Given the description of an element on the screen output the (x, y) to click on. 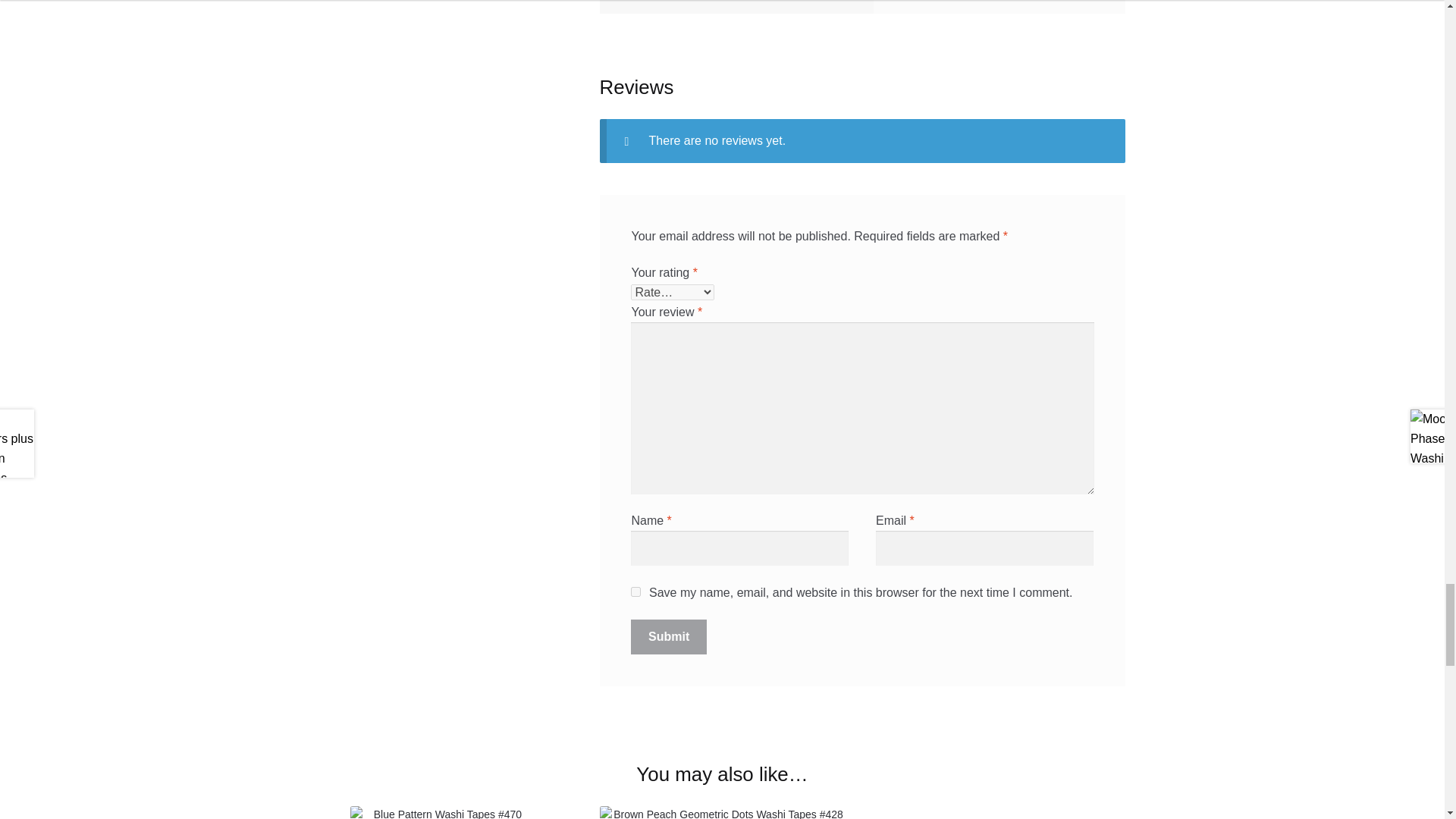
yes (635, 592)
Submit (668, 636)
